Given the description of an element on the screen output the (x, y) to click on. 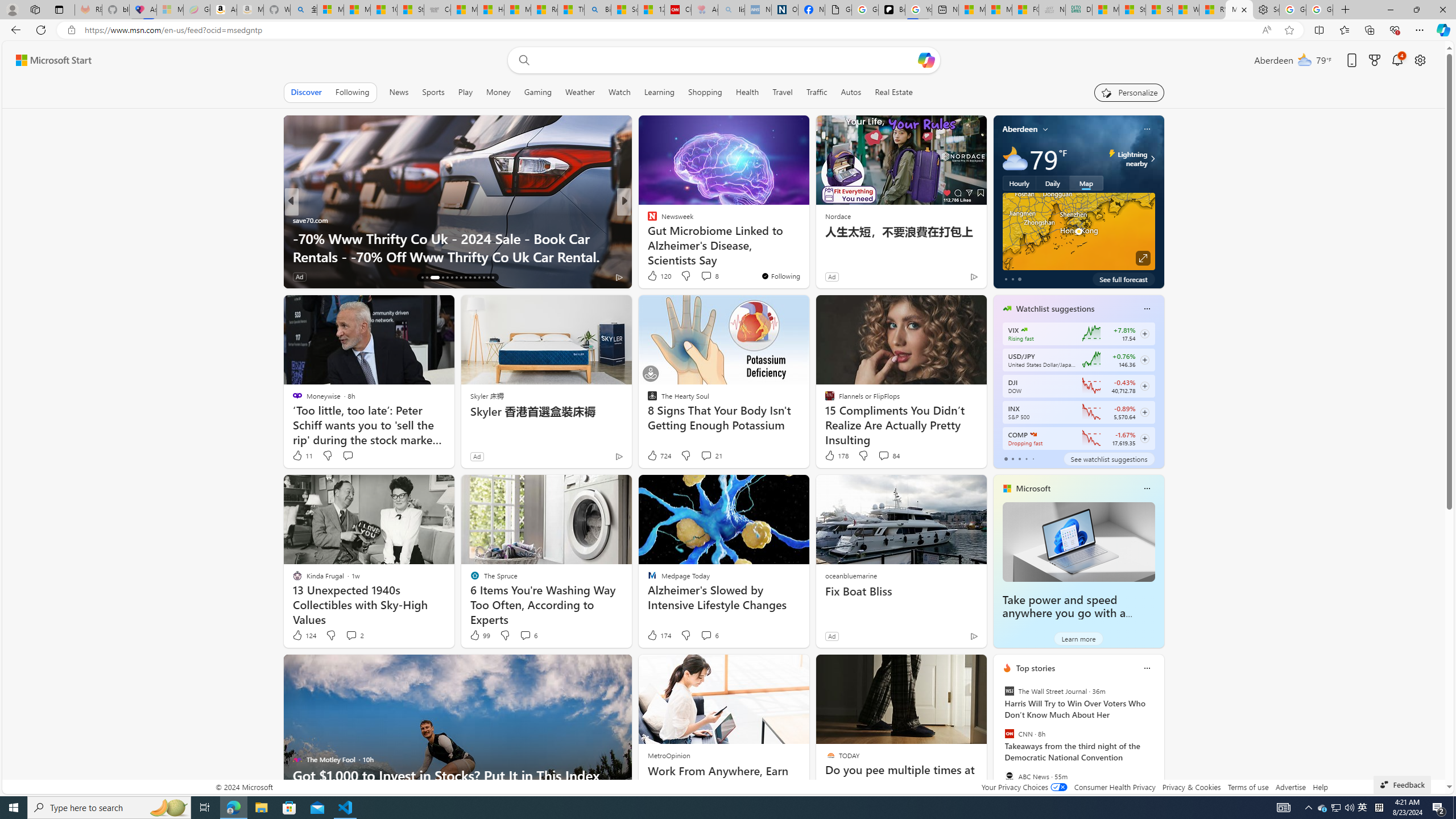
24 Easy, Gut-Healthy Dinners Ready in 15 Minutes or Less (807, 247)
174 Like (658, 634)
AutomationID: tab-22 (456, 277)
11 Like (301, 455)
View comments 21 Comment (705, 455)
